Given the description of an element on the screen output the (x, y) to click on. 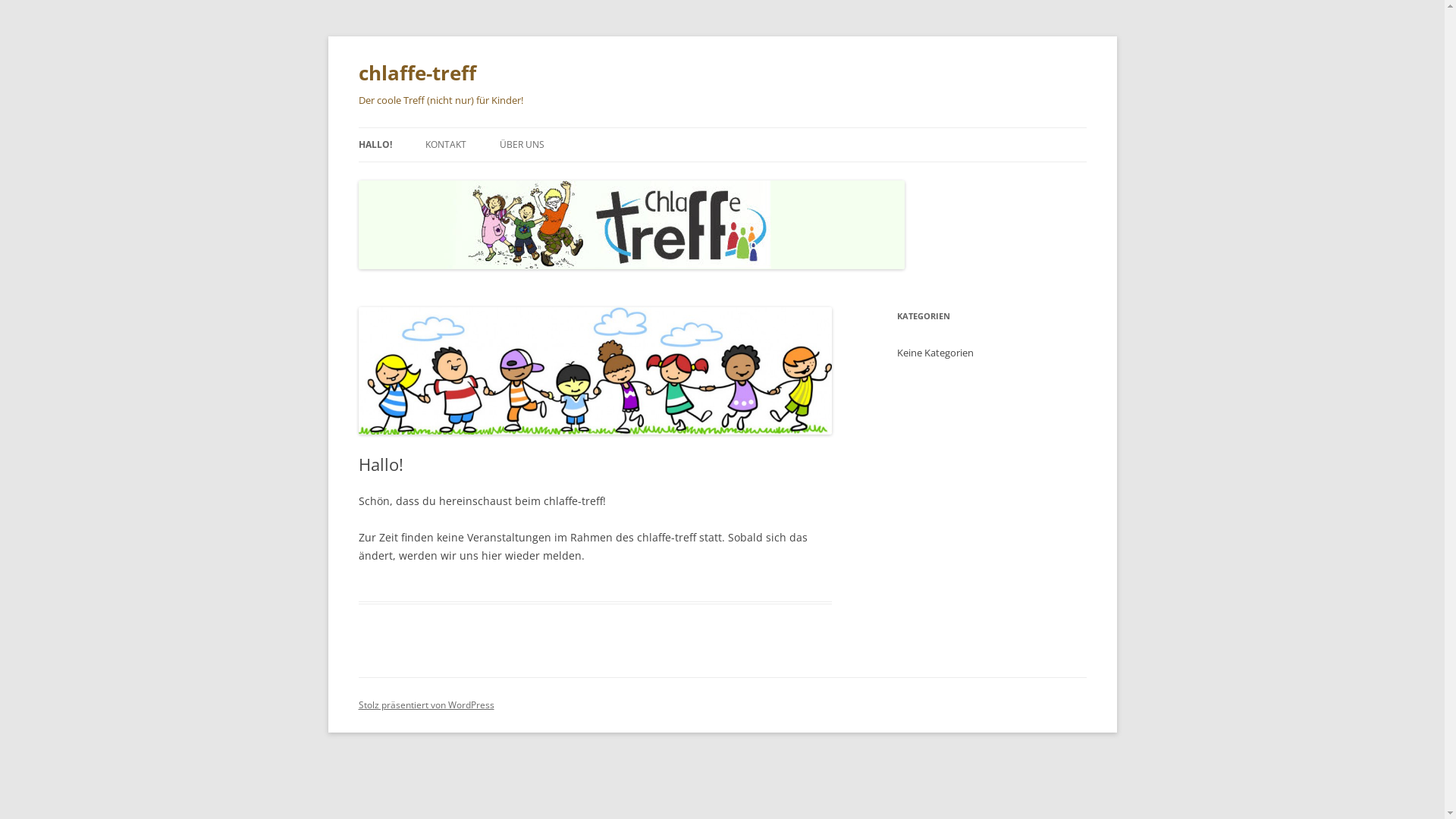
HALLO! Element type: text (374, 144)
chlaffe-treff Element type: text (416, 72)
Zum Inhalt springen Element type: text (721, 127)
KONTAKT Element type: text (444, 144)
